Given the description of an element on the screen output the (x, y) to click on. 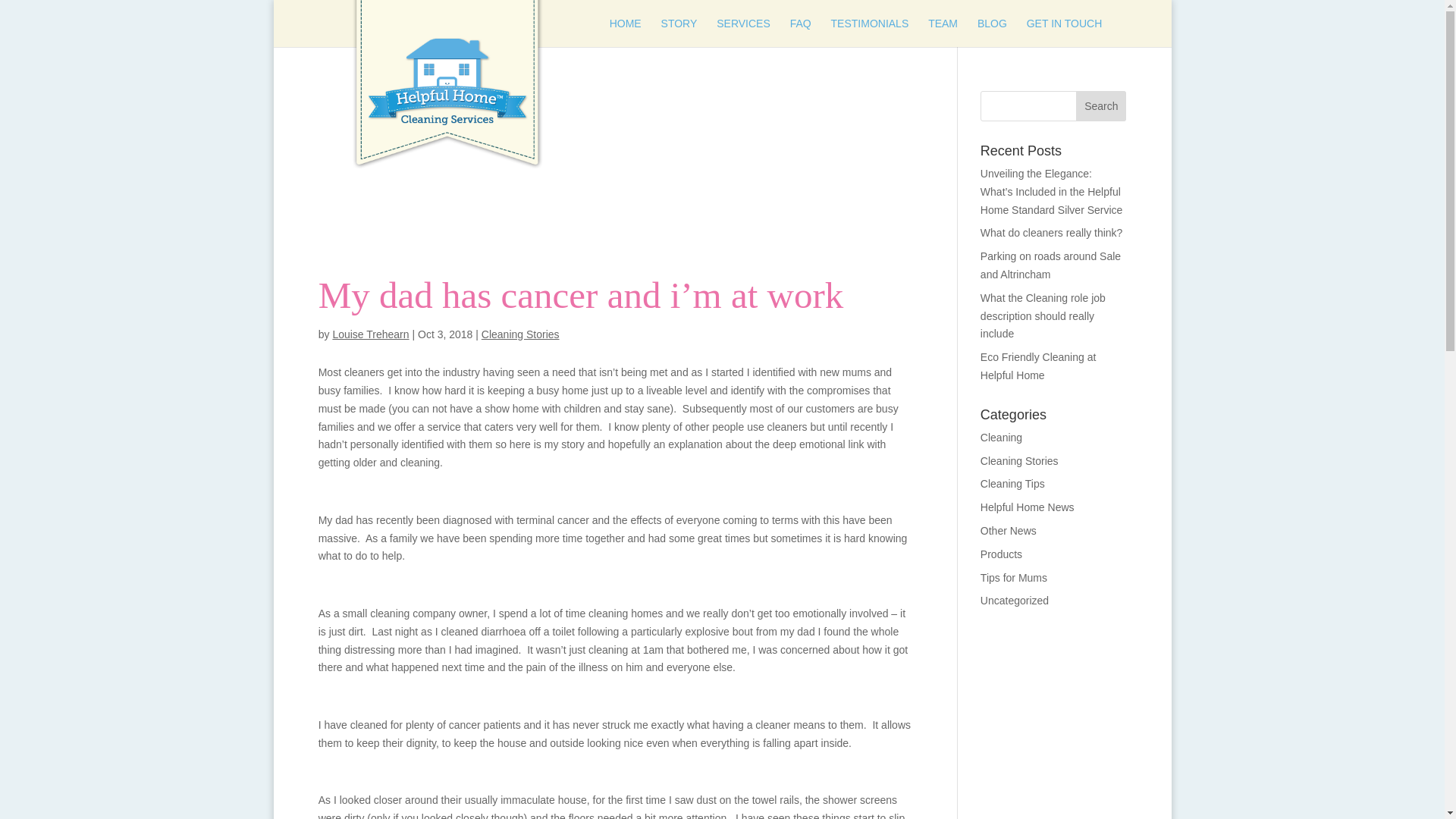
Helpful Home News (1026, 507)
SERVICES (743, 32)
Search (1100, 105)
TESTIMONIALS (869, 32)
What the Cleaning role job description should really include (1042, 315)
Cleaning (1000, 437)
Cleaning Stories (1018, 460)
What do cleaners really think? (1050, 232)
Posts by Louise Trehearn (370, 334)
HOME (626, 32)
